Given the description of an element on the screen output the (x, y) to click on. 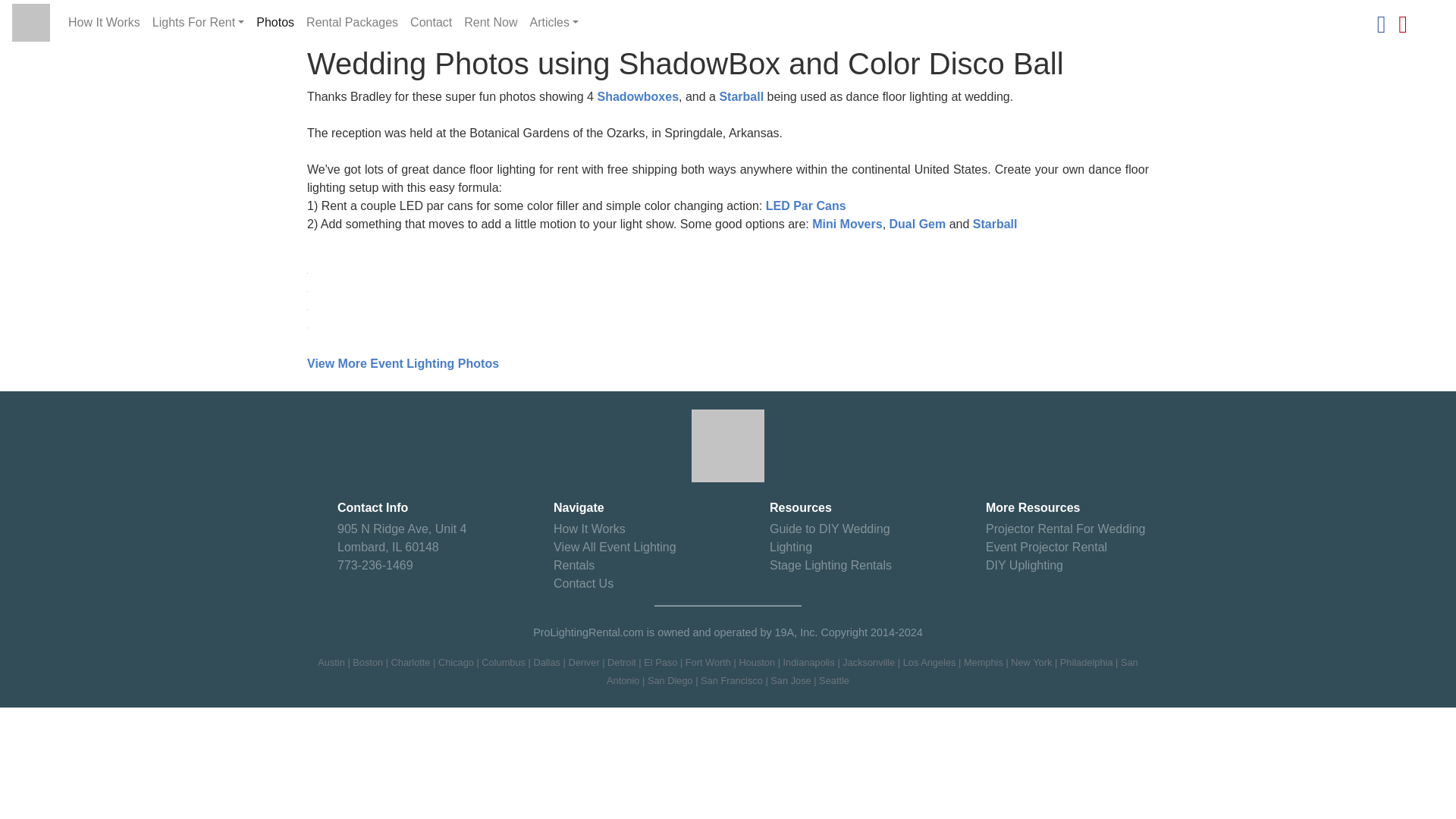
Starball (740, 96)
Contact (431, 22)
DIY Uplighting (1023, 564)
Photos (274, 22)
Contact Us (582, 583)
Boston (367, 662)
Mini Movers (847, 223)
Projector Rental For Wedding (1064, 528)
Lights For Rent (198, 22)
Rental Packages (351, 22)
Chicago (456, 662)
LED Par Cans (805, 205)
Rent Now (490, 22)
Austin (331, 662)
How It Works (104, 22)
